Given the description of an element on the screen output the (x, y) to click on. 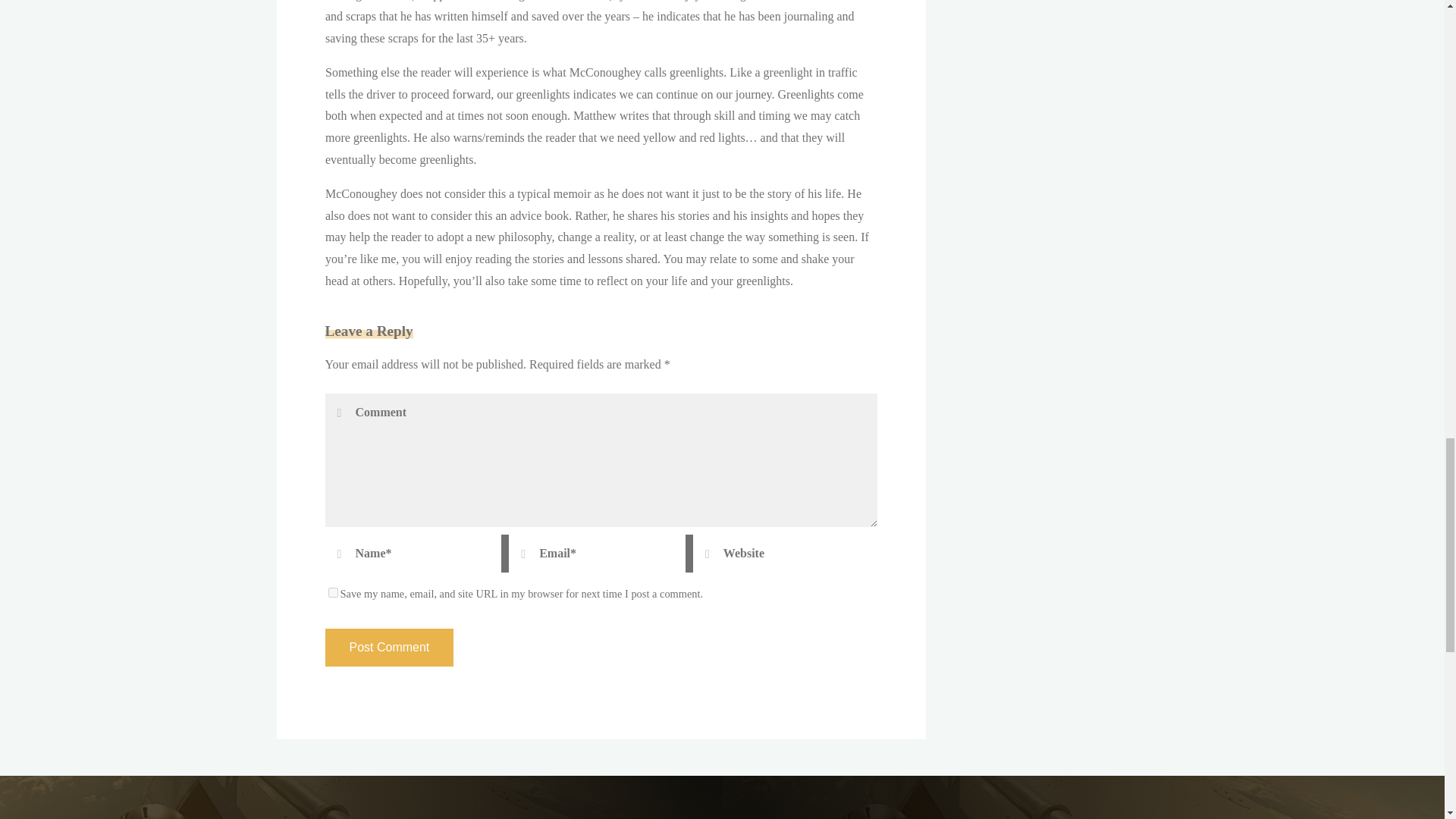
yes (332, 592)
Post Comment (388, 647)
Post Comment (388, 647)
